Given the description of an element on the screen output the (x, y) to click on. 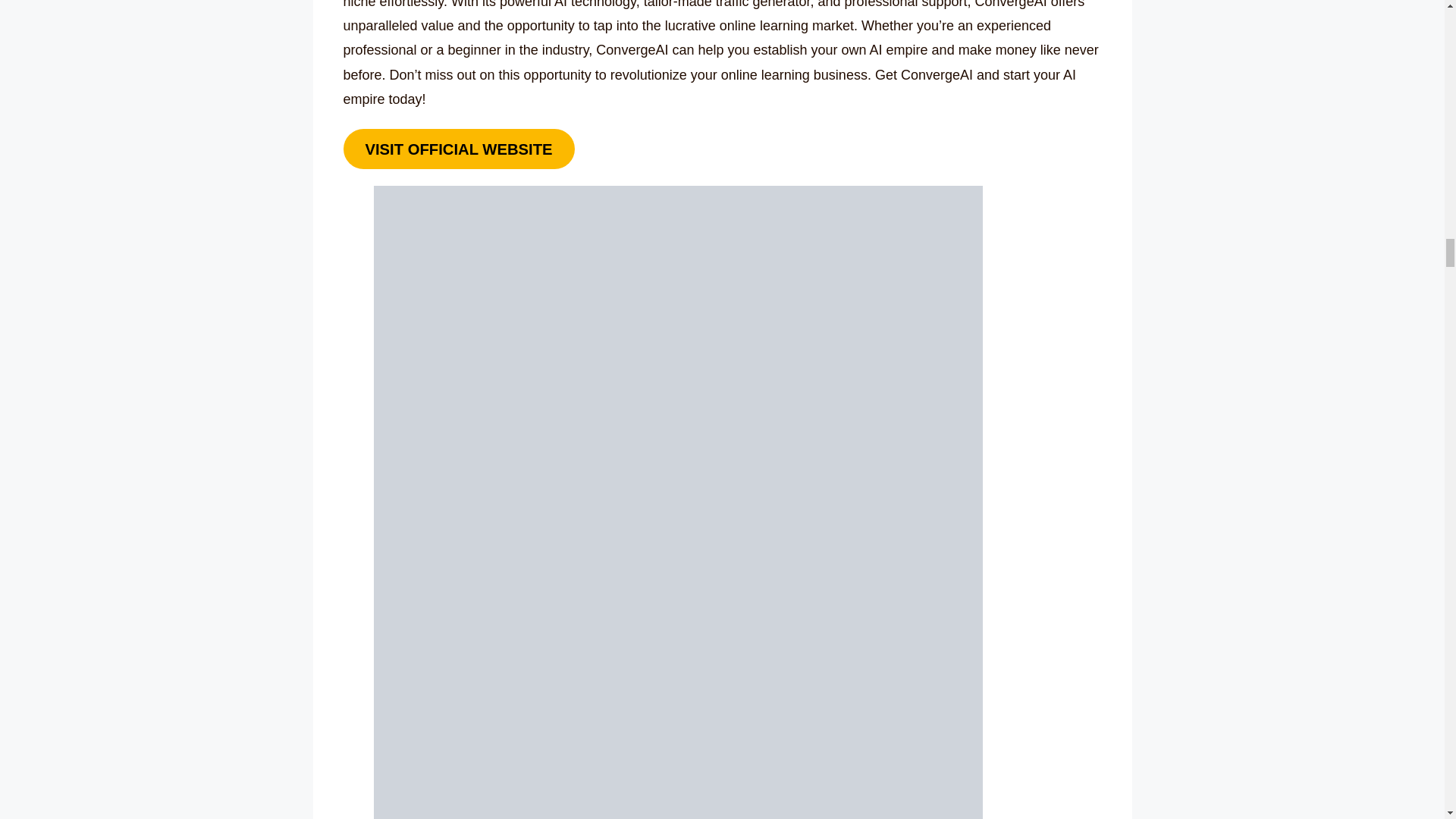
VISIT OFFICIAL WEBSITE (457, 148)
